Given the description of an element on the screen output the (x, y) to click on. 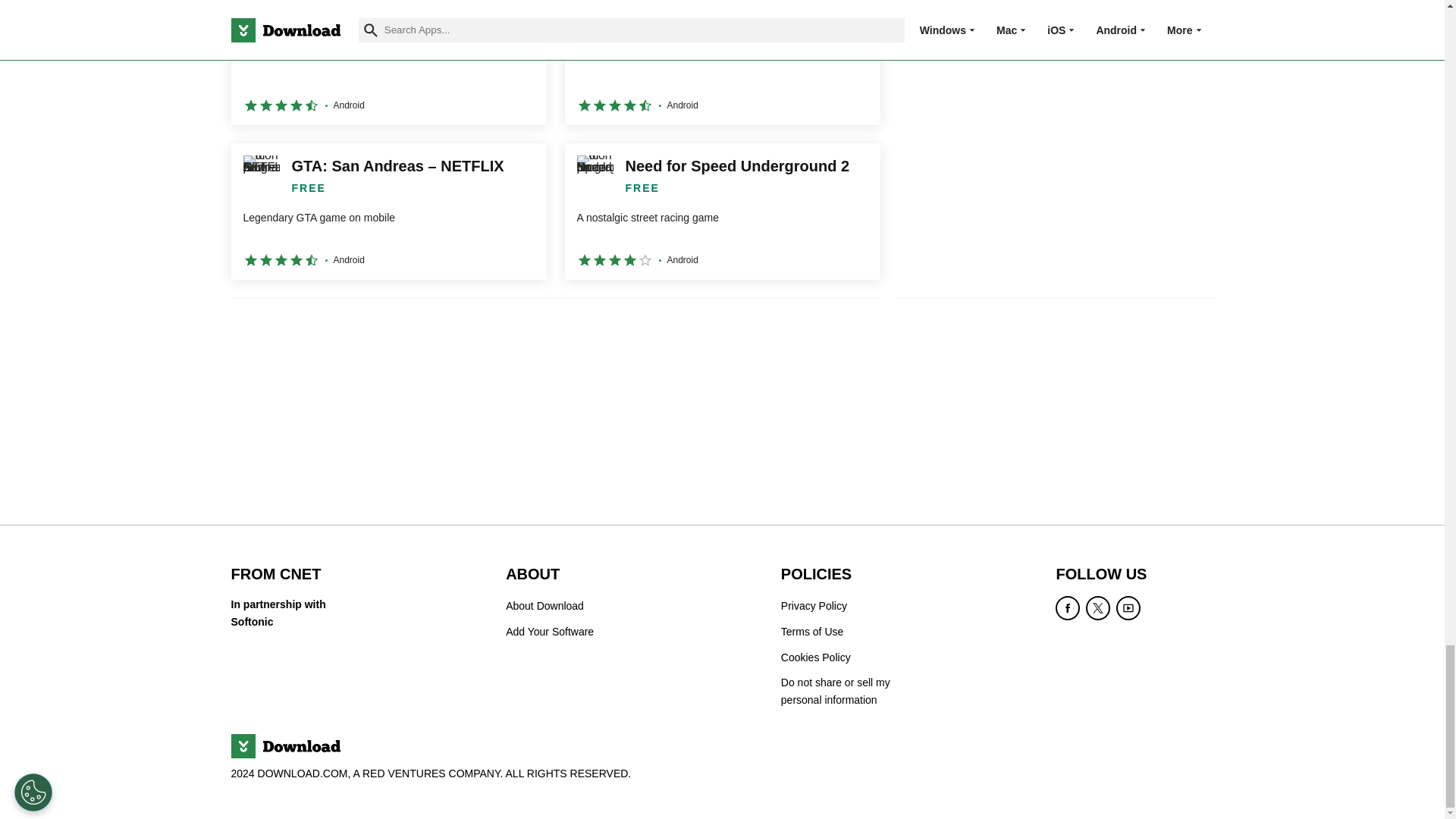
Grand Theft Auto - Vice City Stories (388, 62)
Download.com (284, 745)
Need for Speed Underground 2 (721, 211)
